Given the description of an element on the screen output the (x, y) to click on. 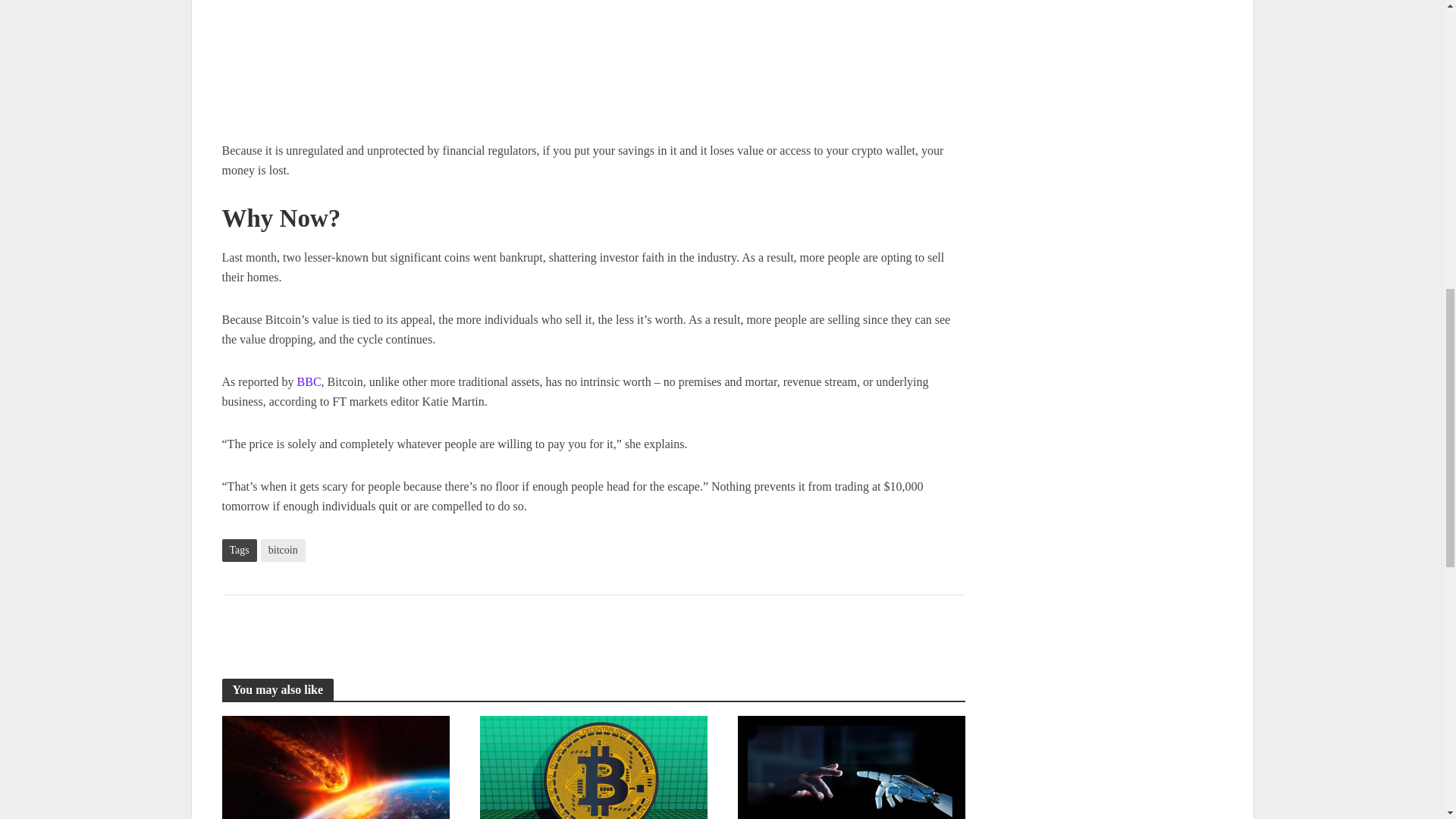
Advertisement (592, 70)
BBC (309, 383)
bitcoin (282, 549)
